Given the description of an element on the screen output the (x, y) to click on. 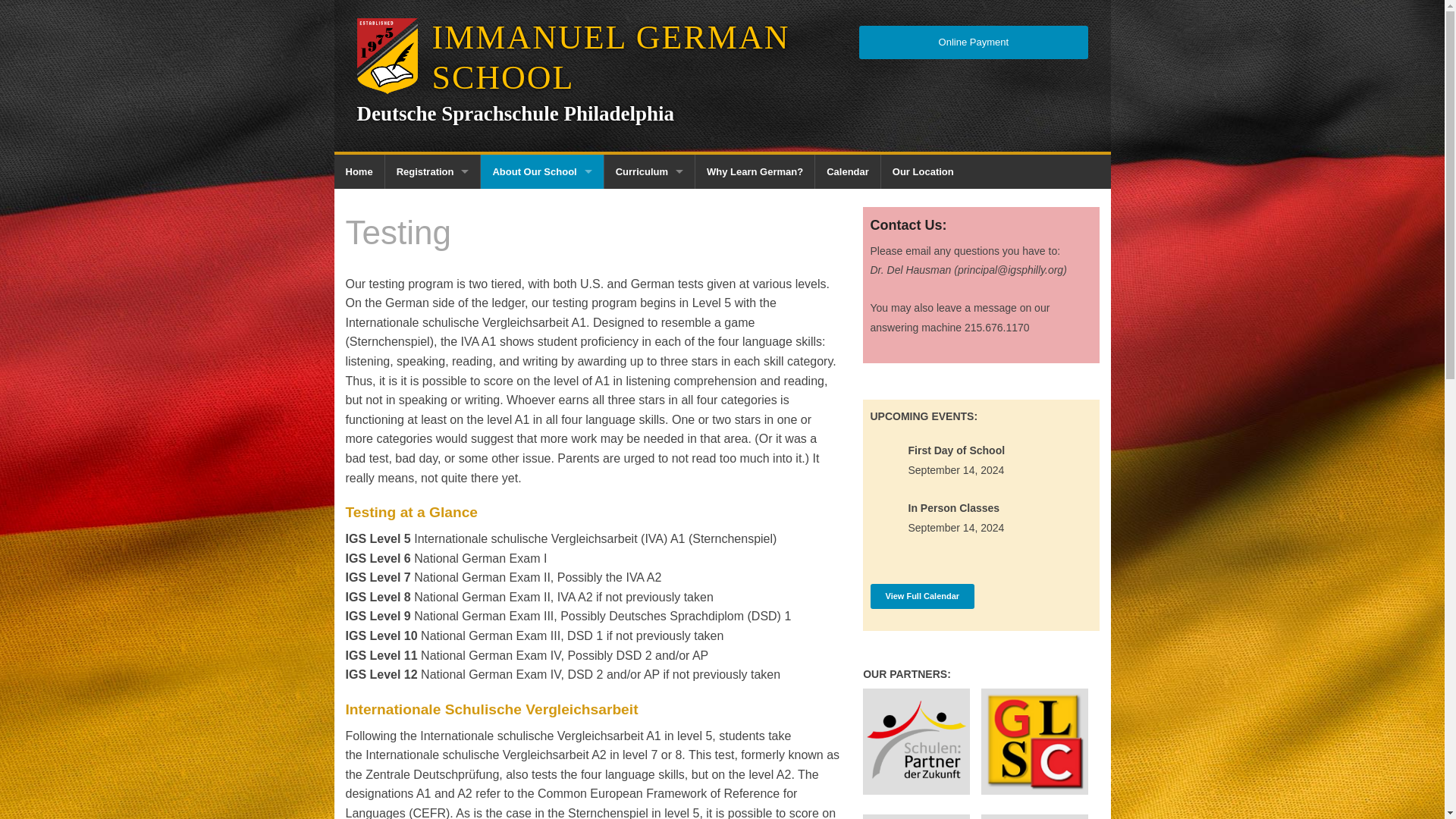
Immanuel German School (358, 171)
Online Payment (432, 239)
View Full Calendar (922, 596)
Calendar (847, 171)
Immanuel German School (595, 58)
Testing (541, 274)
Registration (432, 171)
About Our School (541, 171)
Our Students (541, 239)
Adult Classes (649, 274)
